Given the description of an element on the screen output the (x, y) to click on. 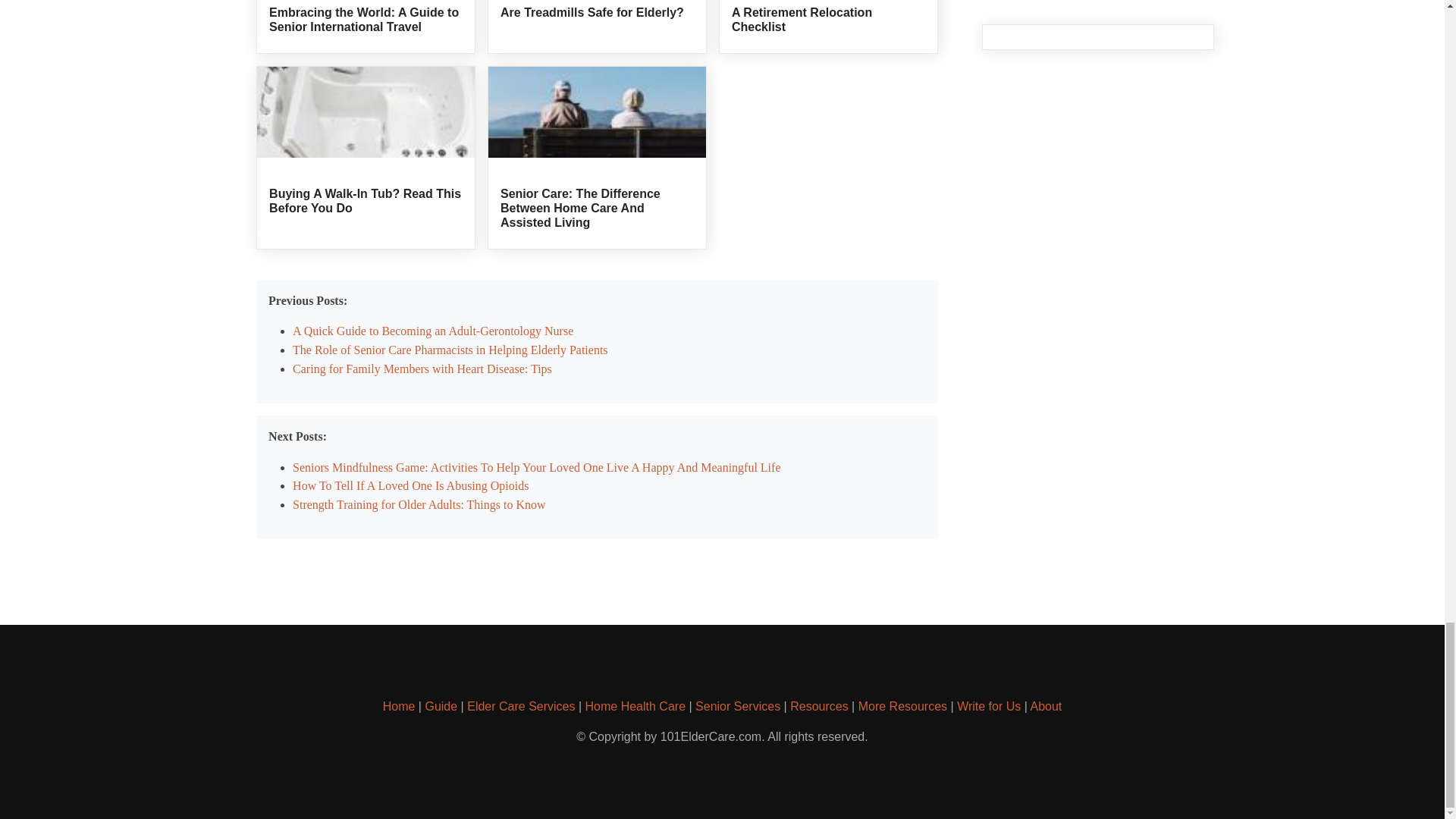
A Quick Guide to Becoming an Adult-Gerontology Nurse (432, 330)
How To Tell If A Loved One Is Abusing Opioids (410, 485)
Caring for Family Members with Heart Disease: Tips (421, 368)
Buying A Walk-In Tub? Read This Before You Do (365, 200)
Strength Training for Older Adults: Things to Know (419, 504)
Are Treadmills Safe for Elderly? (592, 11)
A Retirement Relocation Checklist (802, 19)
Embracing the World: A Guide to Senior International Travel (363, 19)
